Given the description of an element on the screen output the (x, y) to click on. 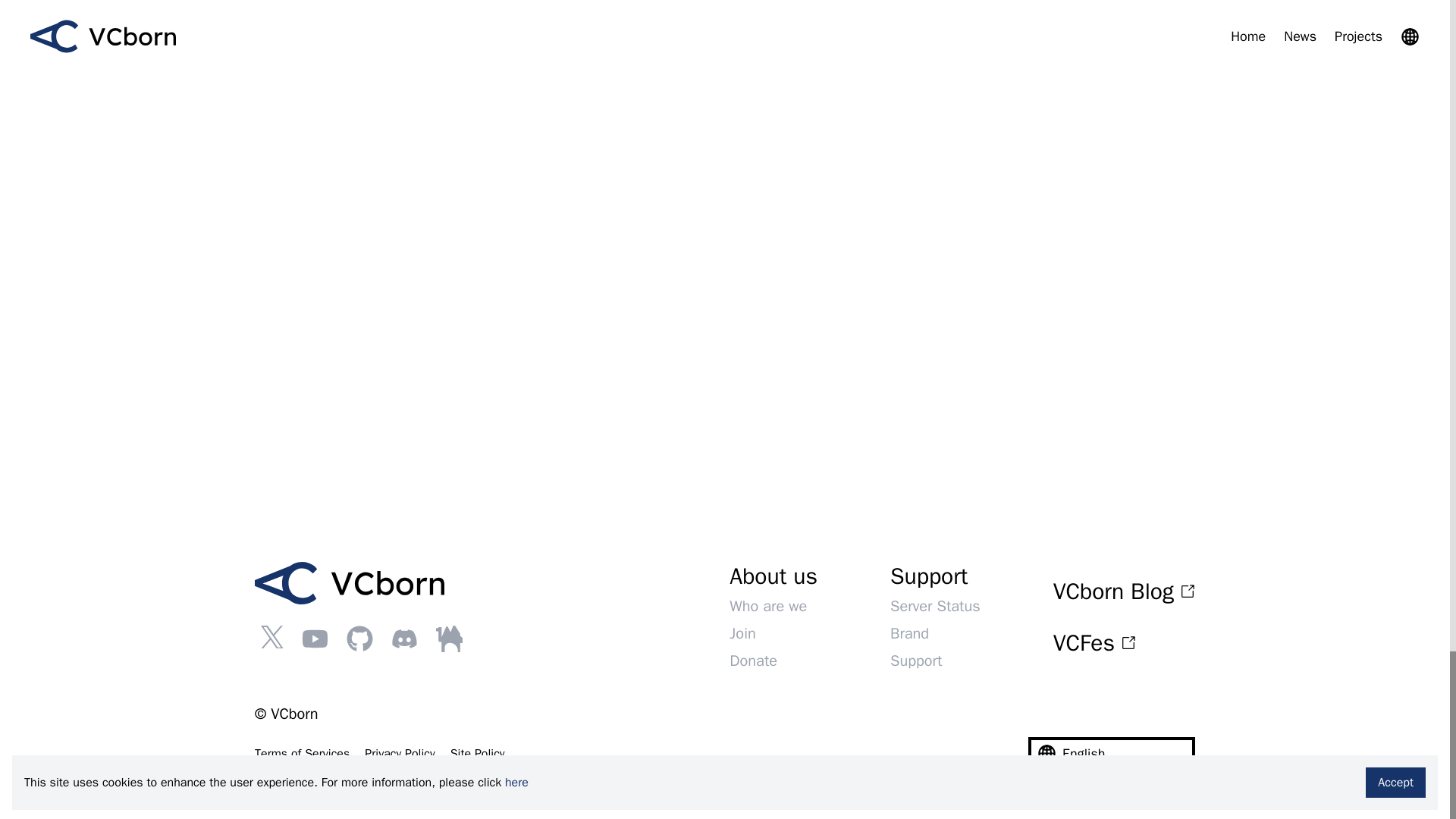
Support (915, 660)
VCborn Blog (1123, 591)
VCFes (1123, 642)
Who are we (767, 606)
Join (742, 633)
Brand (908, 633)
Privacy Policy (399, 753)
Server Status (934, 606)
Donate (753, 660)
Site Policy (477, 753)
Terms of Services (301, 753)
English (1111, 753)
